Given the description of an element on the screen output the (x, y) to click on. 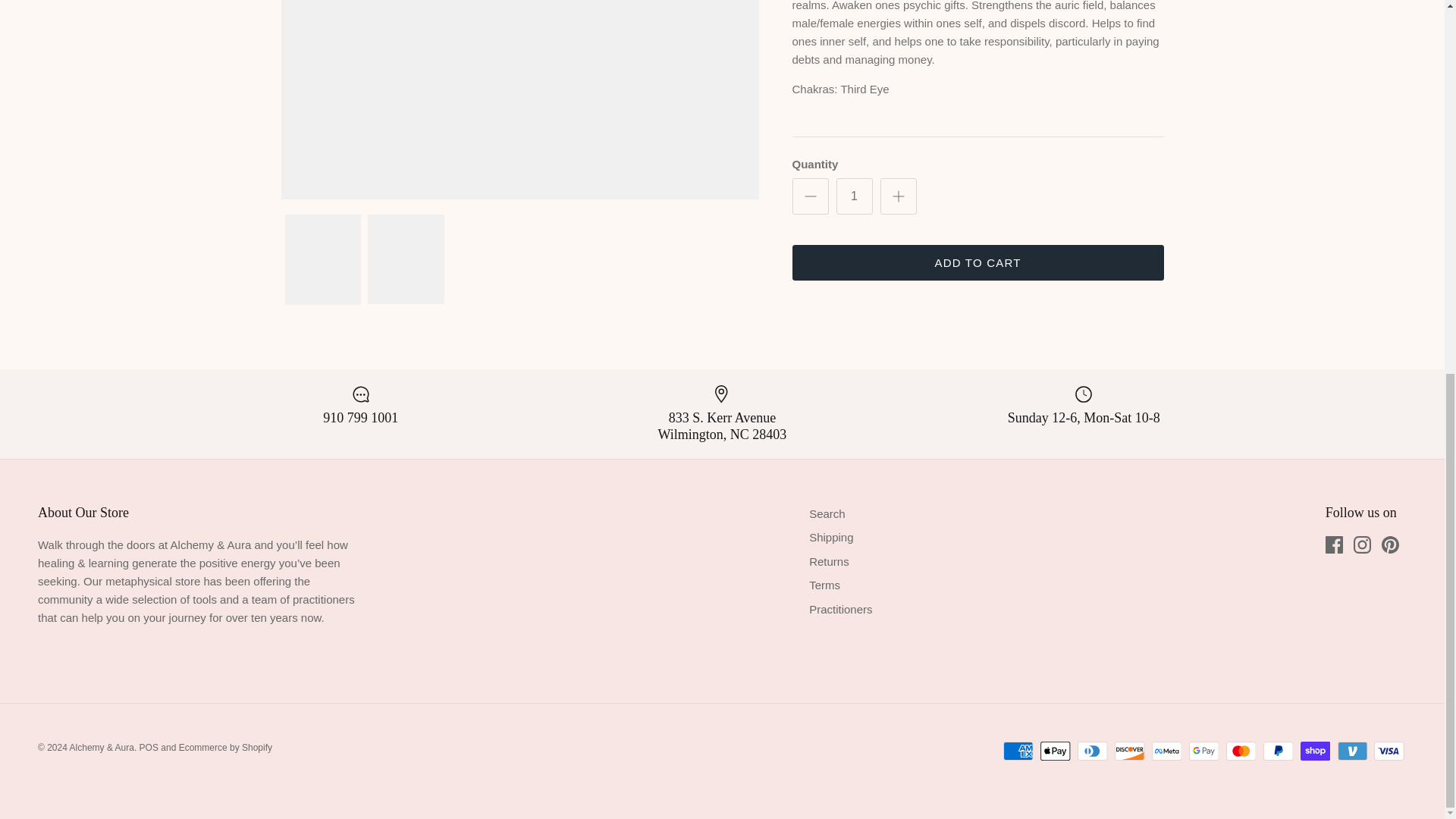
Apple Pay (1055, 751)
1 (853, 196)
Pinterest (1390, 544)
American Express (1018, 751)
Discover (1129, 751)
Facebook (1333, 544)
Diners Club (1092, 751)
Meta Pay (1166, 751)
Instagram (1362, 544)
Plus (897, 196)
